Given the description of an element on the screen output the (x, y) to click on. 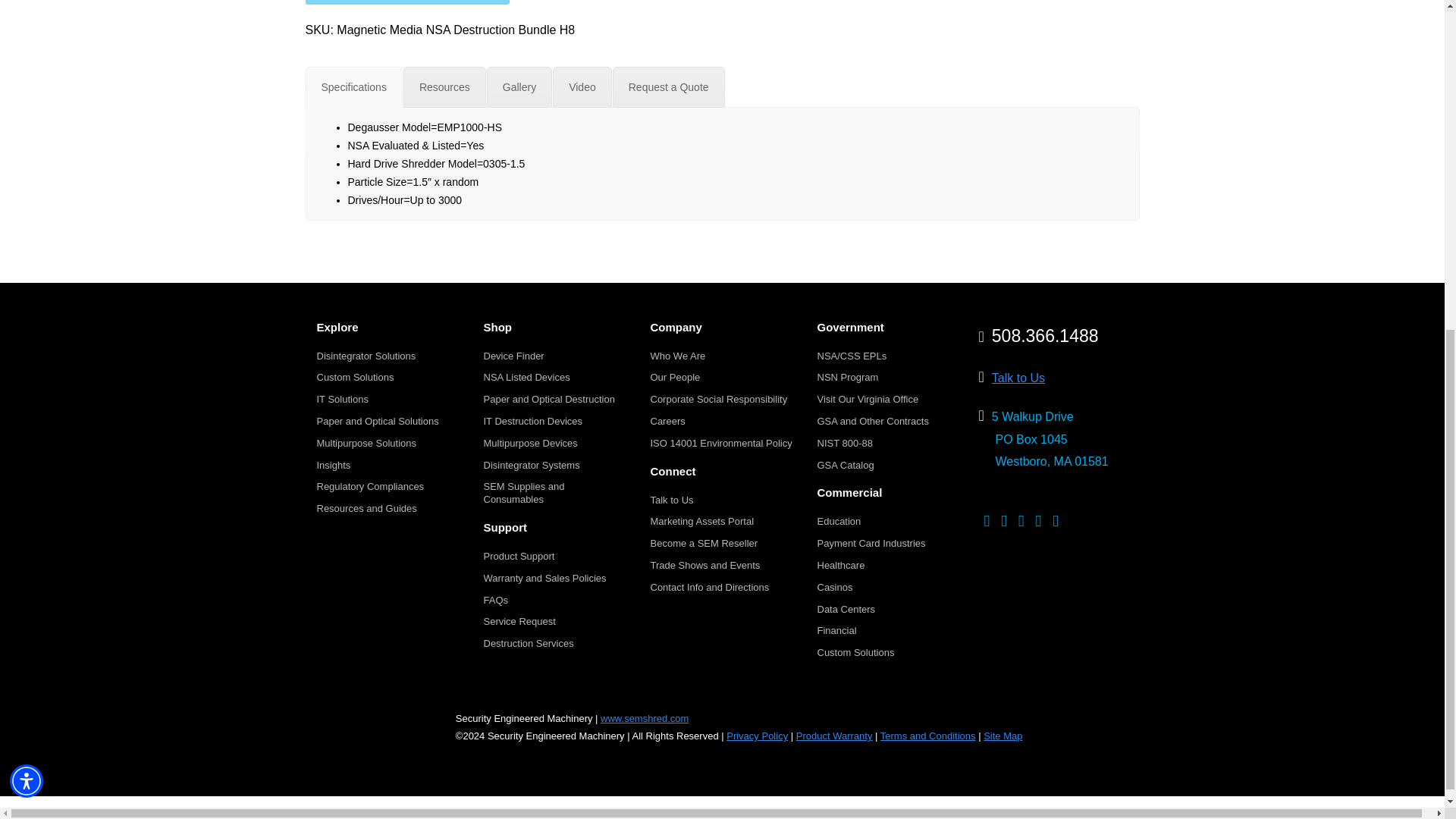
IT Solutions (342, 398)
Accessibility Menu (26, 220)
Custom Solutions (355, 377)
Disintegrator Solutions (366, 355)
Multipurpose Solutions (366, 442)
Paper and Optical Solutions (378, 420)
